Given the description of an element on the screen output the (x, y) to click on. 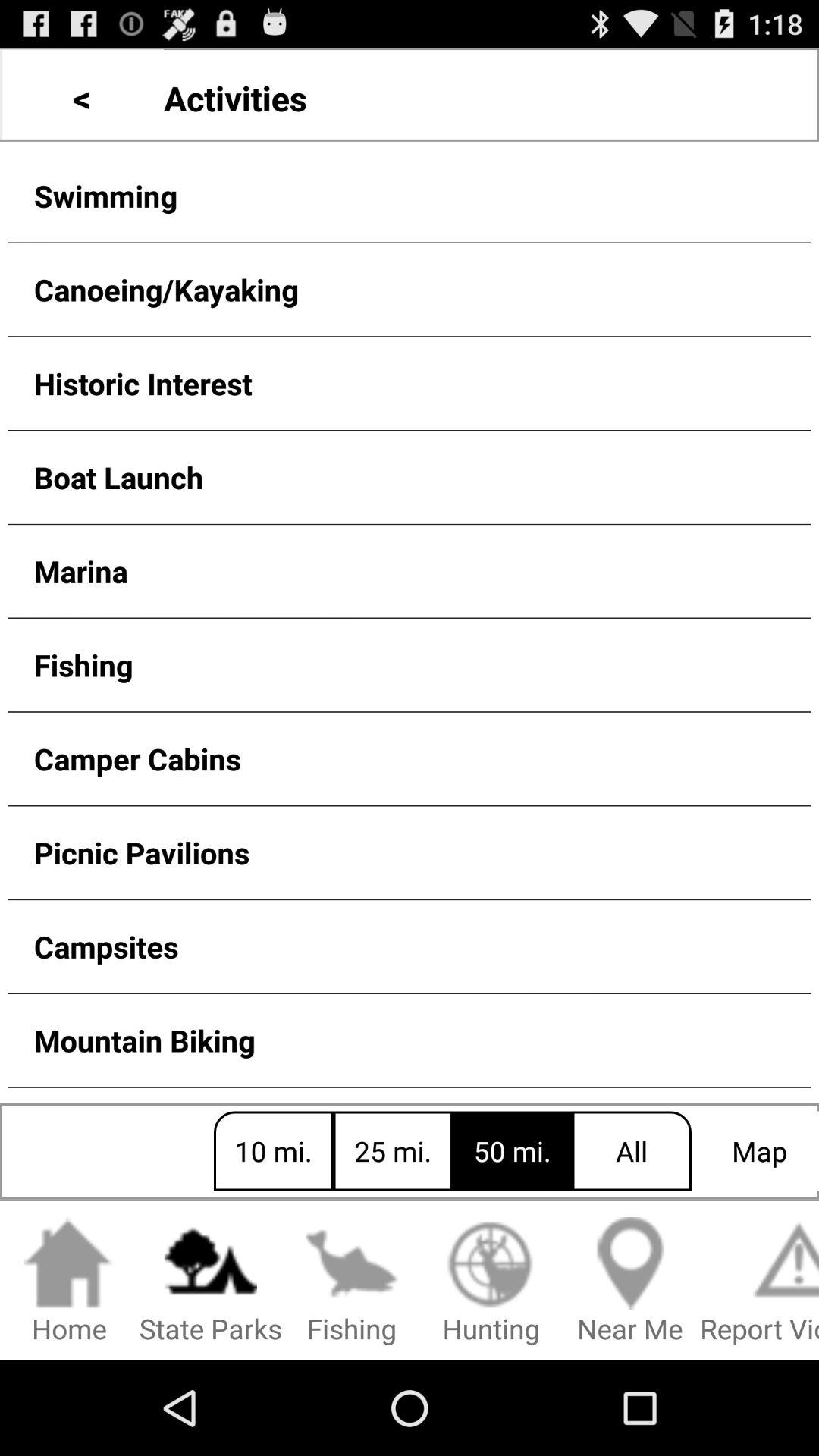
turn on the hunting item (490, 1282)
